Given the description of an element on the screen output the (x, y) to click on. 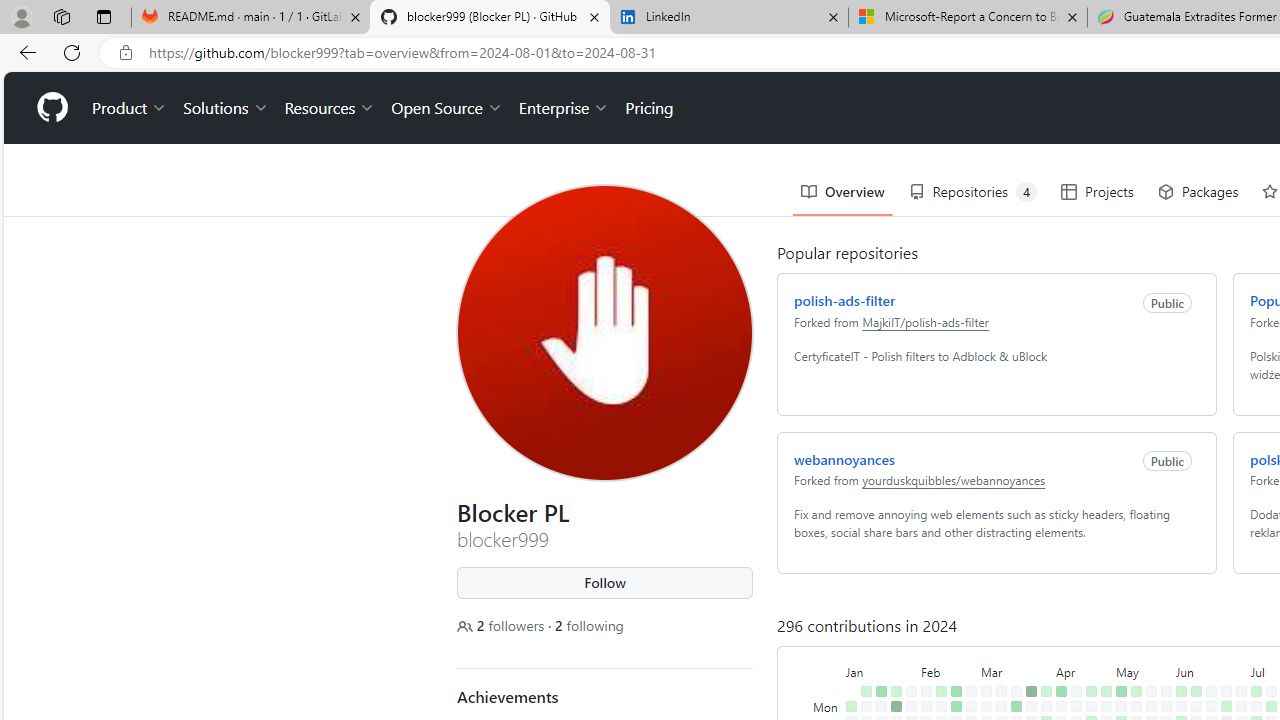
No contributions on May 20th. (1151, 706)
No contributions on July 1st. (1241, 706)
Pricing (649, 107)
1 contribution on January 1st. (851, 706)
No contributions on February 5th. (926, 706)
No contributions on July 8th. (1256, 706)
2 followers  (502, 625)
No contributions on April 14th. (1076, 691)
No contributions on June 17th. (1211, 706)
No contributions on April 15th. (1076, 706)
yourduskquibbles/webannoyances (953, 480)
No contributions on May 26th. (1166, 691)
No contributions on February 12th. (941, 706)
@blocker999 (472, 95)
No contributions on April 1st. (1046, 706)
